Given the description of an element on the screen output the (x, y) to click on. 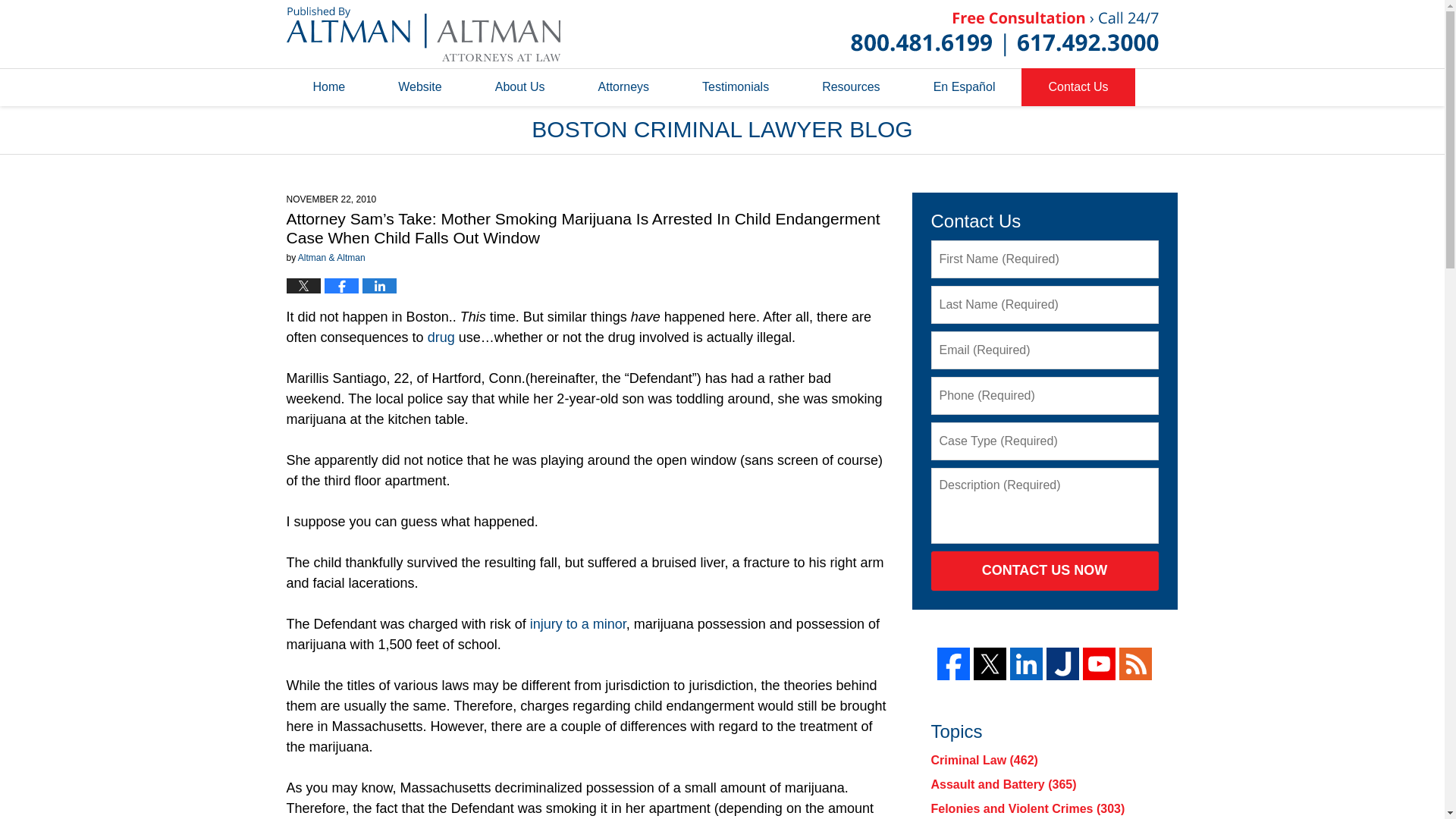
Home (329, 86)
Feed (1135, 663)
Twitter (990, 663)
Please enter a valid phone number. (1044, 395)
About Us (520, 86)
Testimonials (734, 86)
YouTube (1099, 663)
CONTACT US NOW (1044, 570)
LinkedIn (1026, 663)
Contact Us (1078, 86)
drug (443, 337)
Justia (1062, 663)
Attorneys (624, 86)
Boston Criminal Lawyer Blog (423, 33)
Facebook (953, 663)
